Given the description of an element on the screen output the (x, y) to click on. 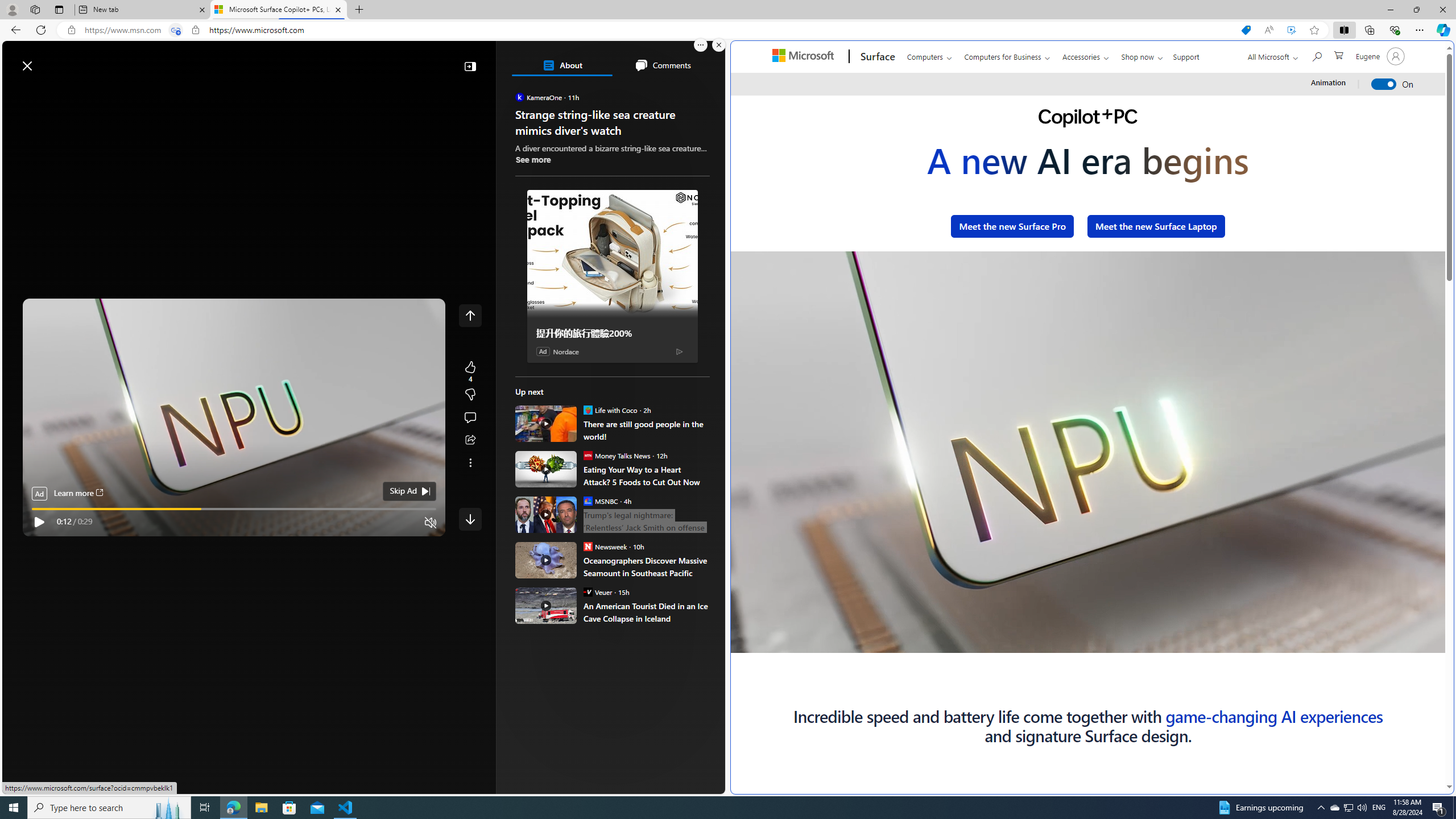
Class: control icon-only (469, 315)
Animation On (1383, 84)
Progress Bar (1058, 643)
KameraOne (519, 96)
Eating Your Way to a Heart Attack? 5 Foods to Cut Out Now (646, 475)
Web search (161, 60)
